Given the description of an element on the screen output the (x, y) to click on. 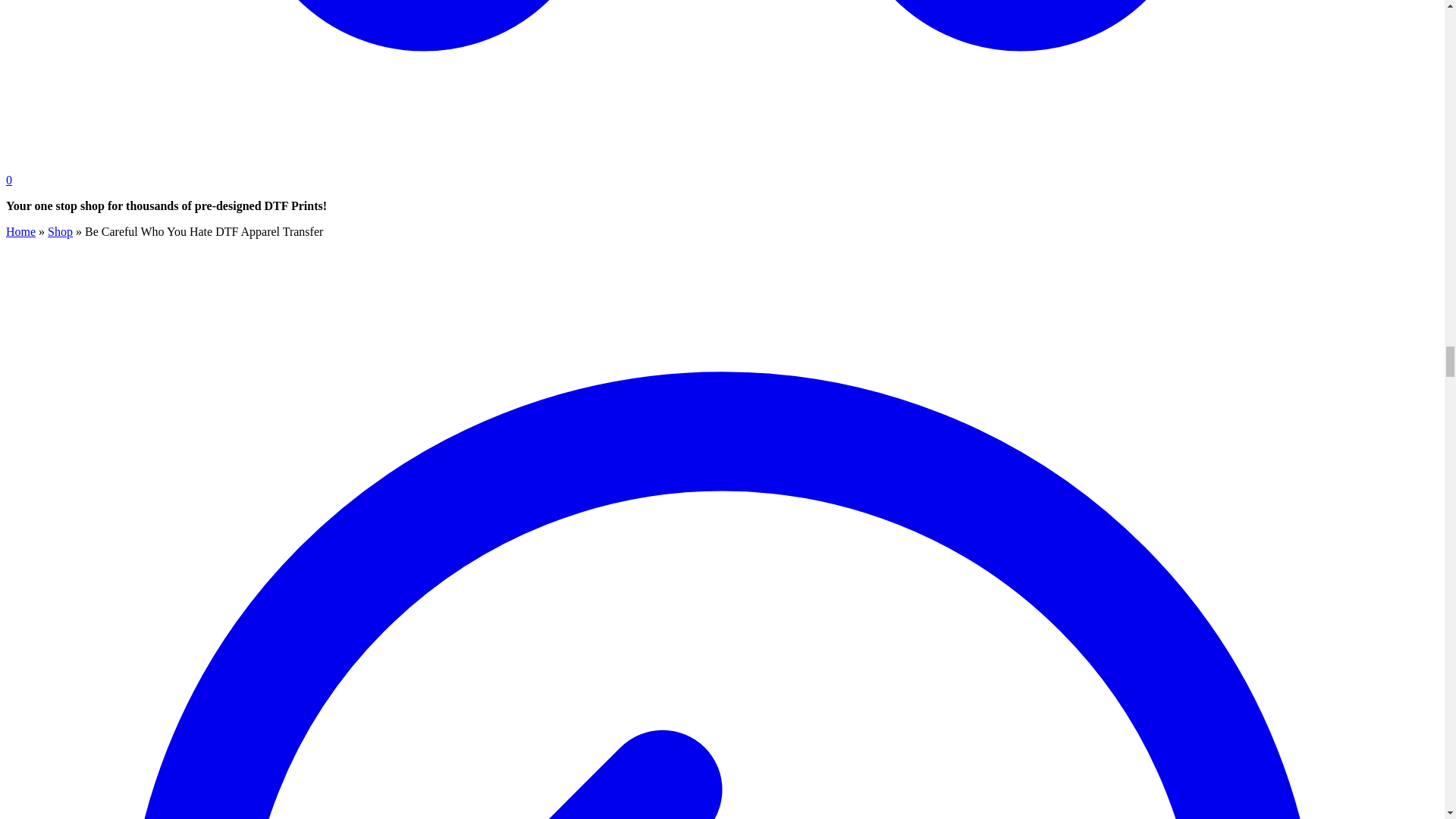
Shop (60, 231)
Home (19, 231)
